Given the description of an element on the screen output the (x, y) to click on. 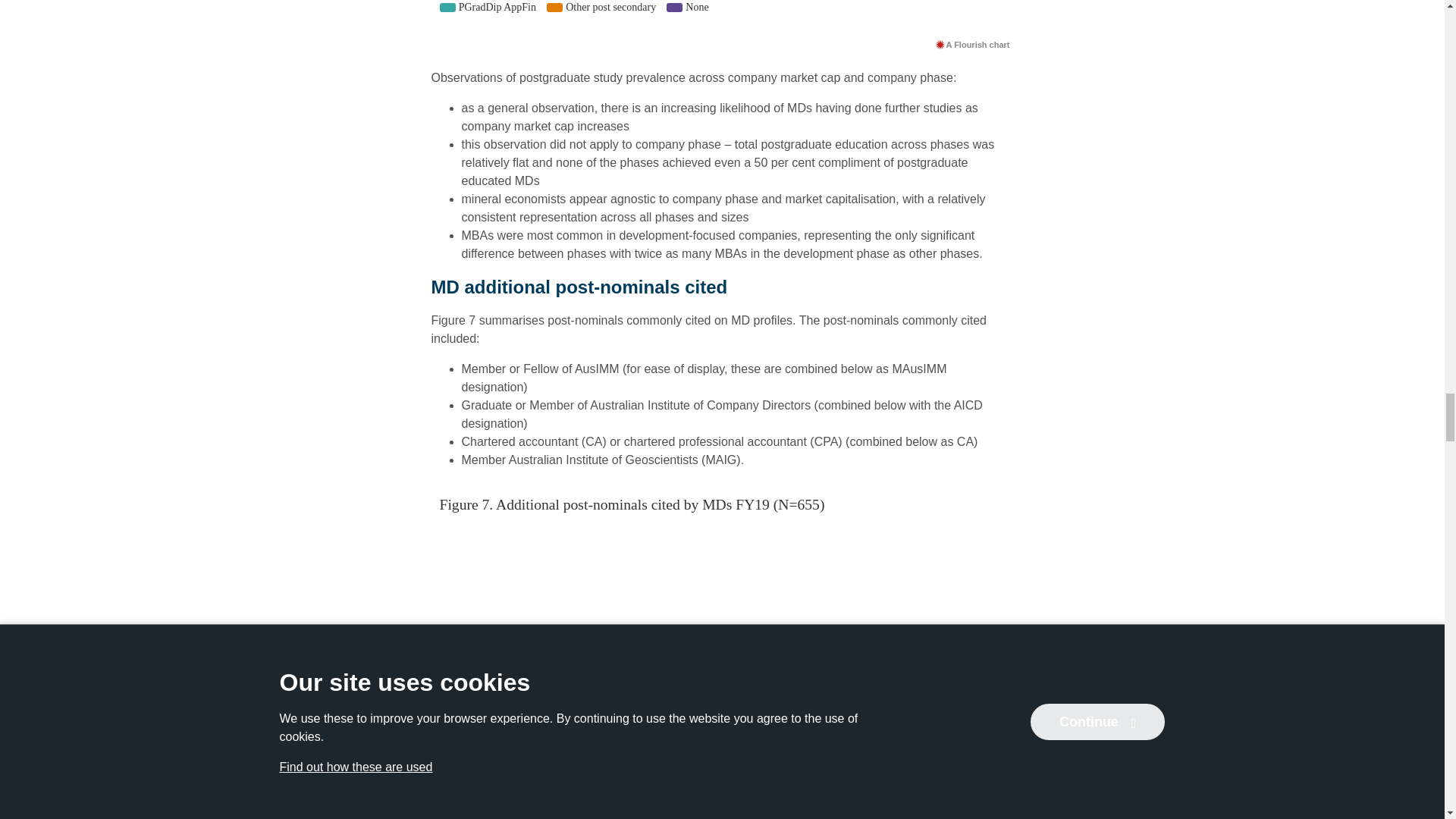
Interactive or visual content (721, 16)
A Flourish chart (972, 43)
